Given the description of an element on the screen output the (x, y) to click on. 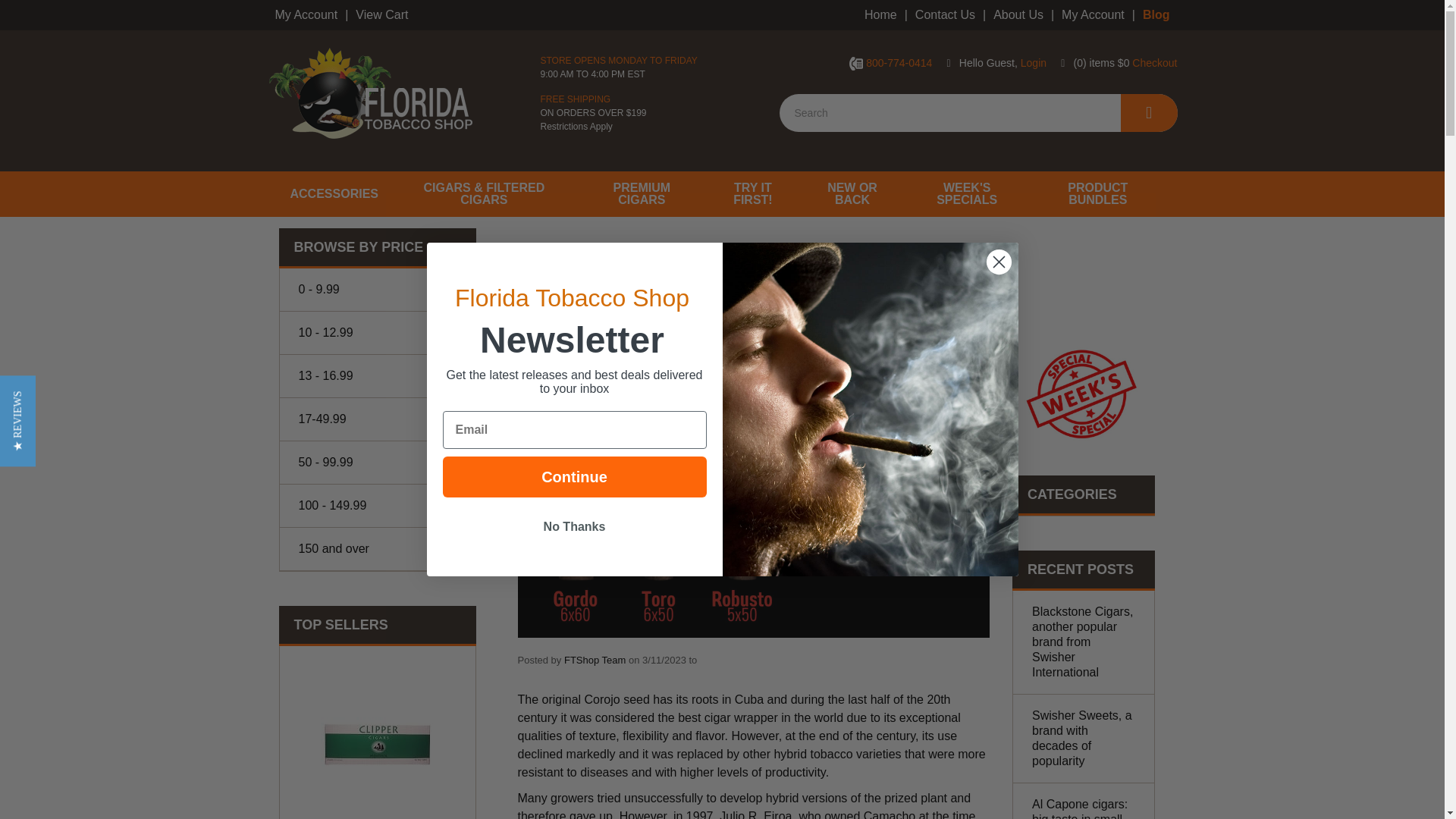
FloridaTobaccoShop.com (369, 92)
Login (1033, 61)
My Account (305, 15)
Home (880, 15)
Blog (1156, 15)
home (369, 92)
ACCESSORIES (334, 194)
Google Plus Profile for FTShop Team (595, 659)
SEARCH (1149, 112)
View Cart (380, 15)
My Account (1093, 15)
About Us (1018, 15)
800-774-0414 (898, 61)
Contact Us (944, 15)
